Given the description of an element on the screen output the (x, y) to click on. 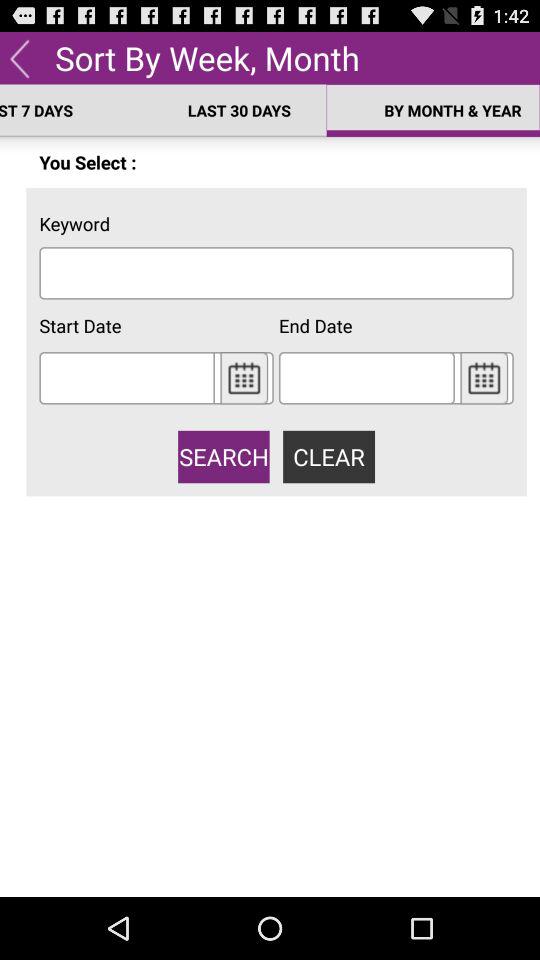
choose date (483, 377)
